Given the description of an element on the screen output the (x, y) to click on. 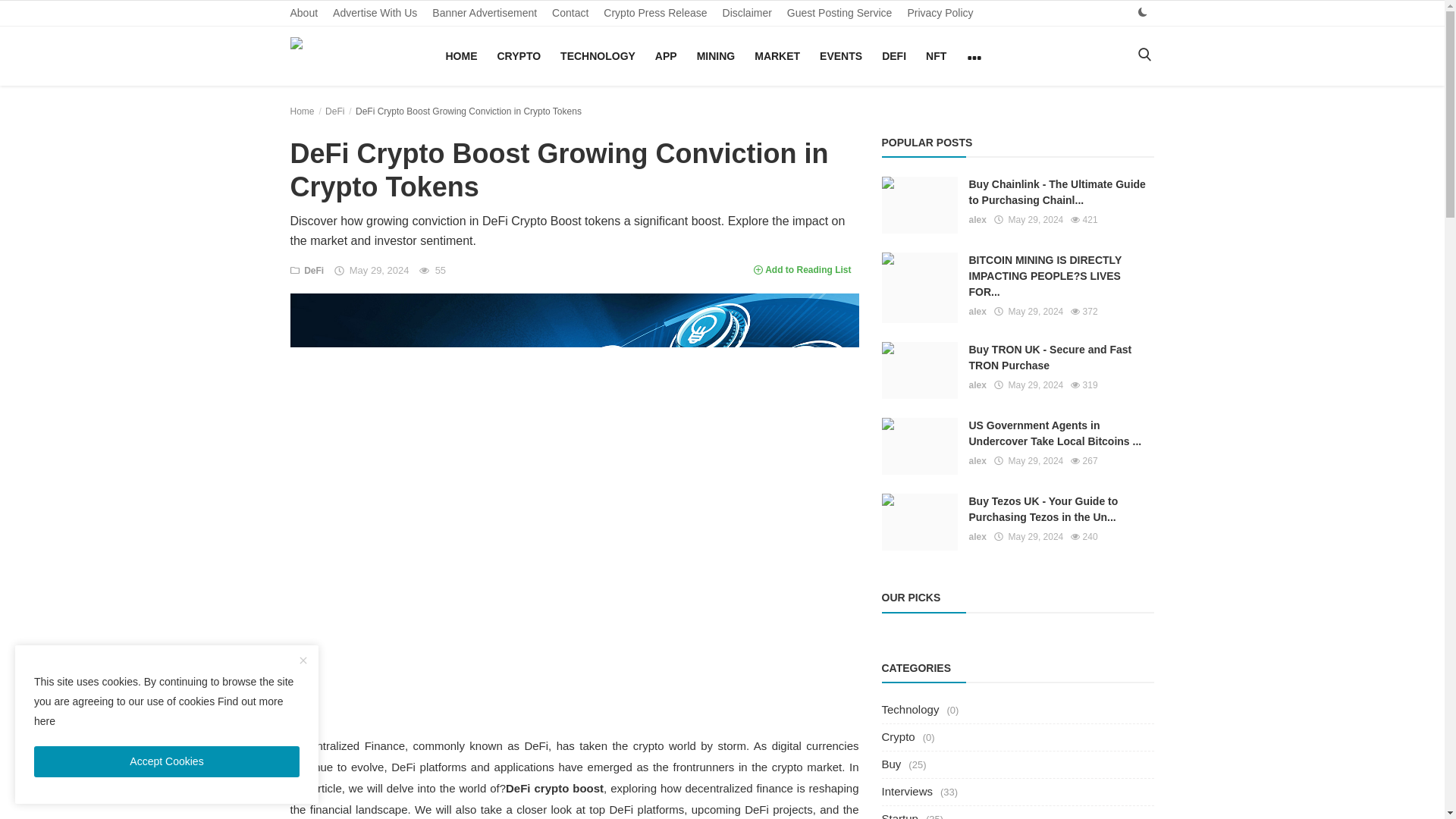
MINING (715, 55)
Guest Posting Service (838, 13)
dark (1141, 12)
Crypto Press Release (654, 13)
Privacy Policy (939, 13)
About (303, 13)
CRYPTO (518, 55)
MARKET (777, 55)
Disclaimer (746, 13)
EVENTS (840, 55)
